Given the description of an element on the screen output the (x, y) to click on. 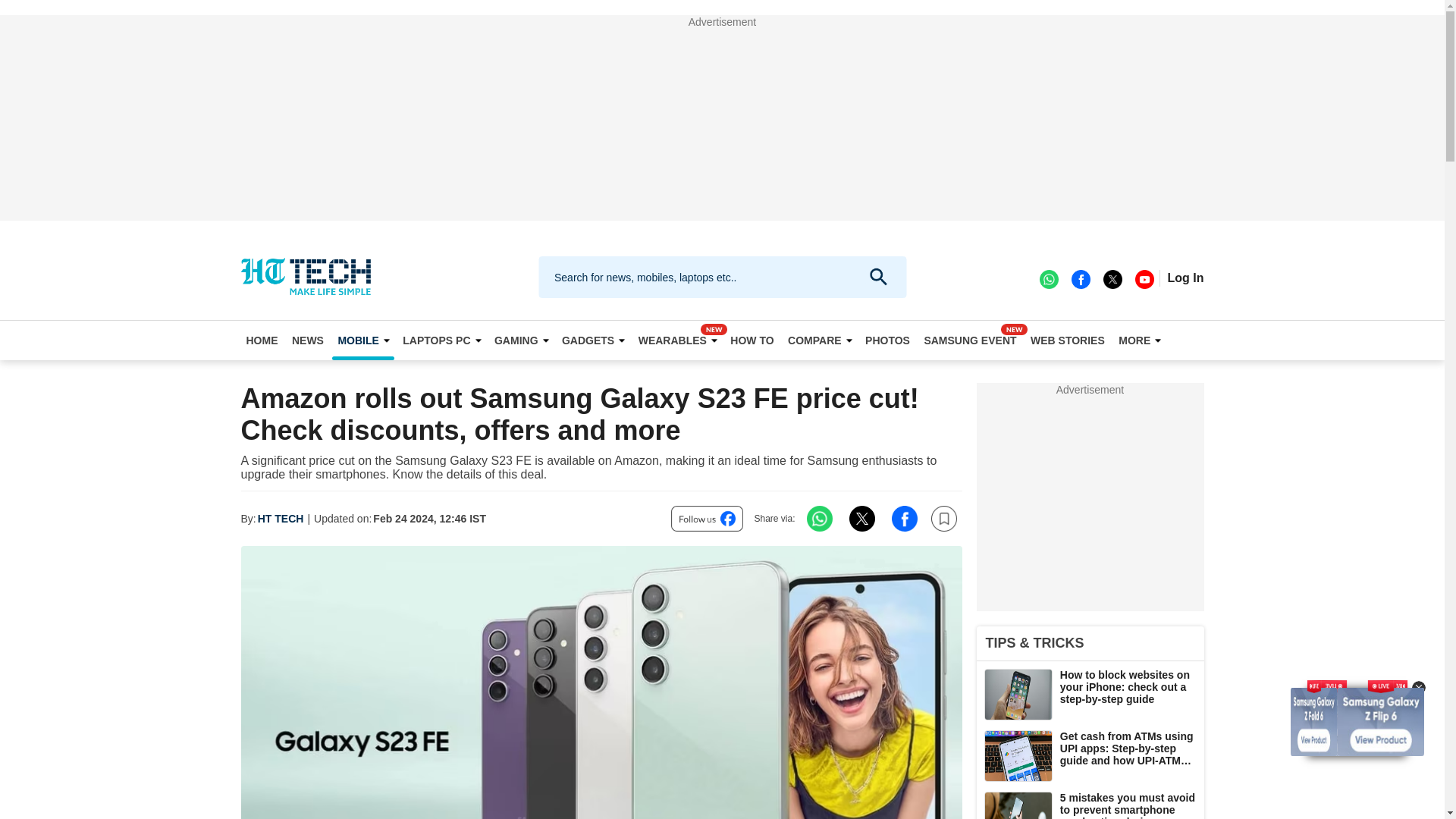
Get to know more about News from India and around the world. (307, 340)
HOW TO (751, 340)
GAMING (521, 340)
twitter (1111, 278)
LAPTOPS PC (440, 340)
facebook (1079, 278)
MOBILE (362, 340)
youtube (1143, 278)
COMPARE (820, 340)
HOME (262, 340)
Login (1185, 277)
WEARABLES (677, 340)
